Given the description of an element on the screen output the (x, y) to click on. 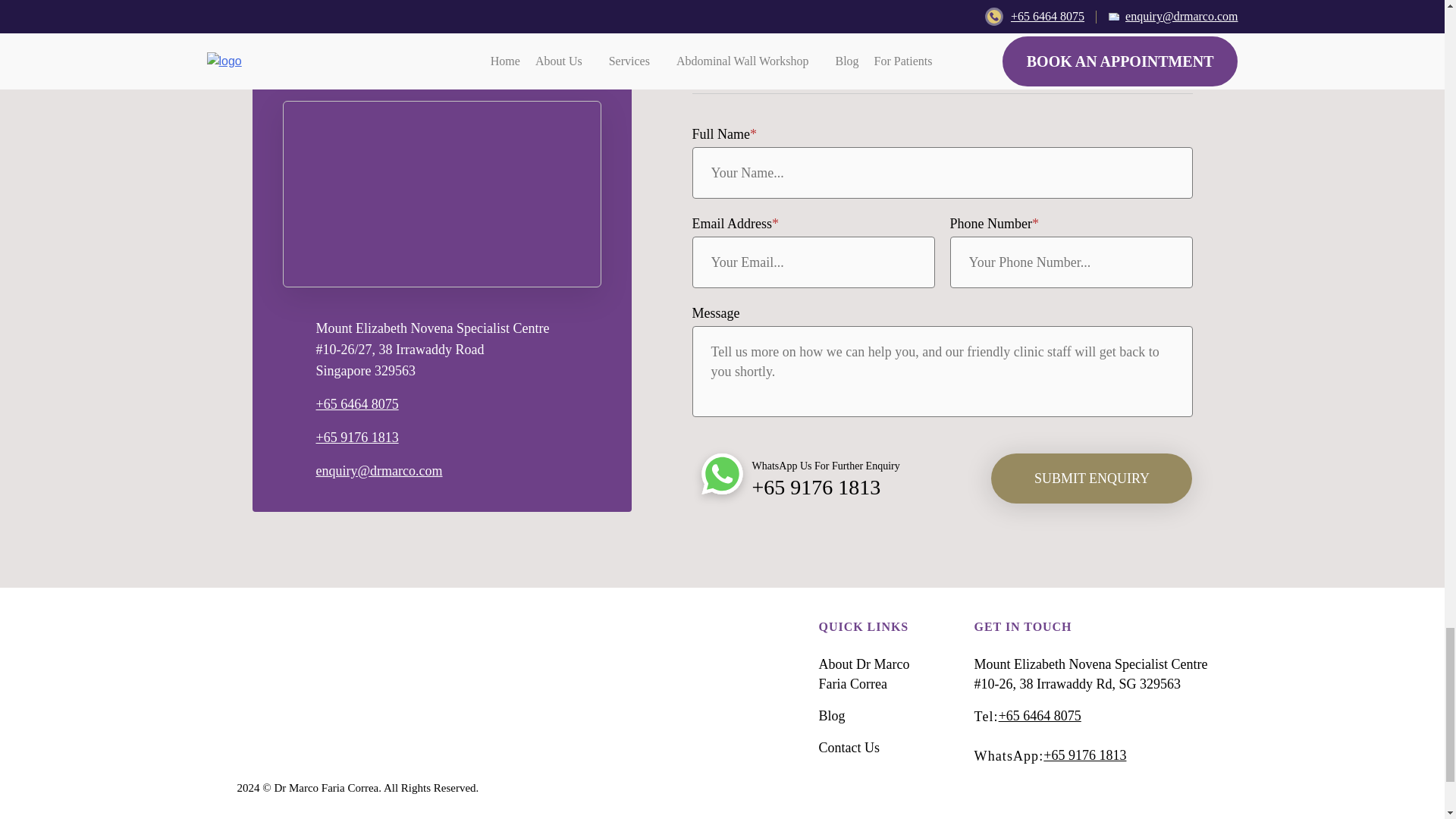
SUBMIT ENQUIRY (1091, 478)
